Given the description of an element on the screen output the (x, y) to click on. 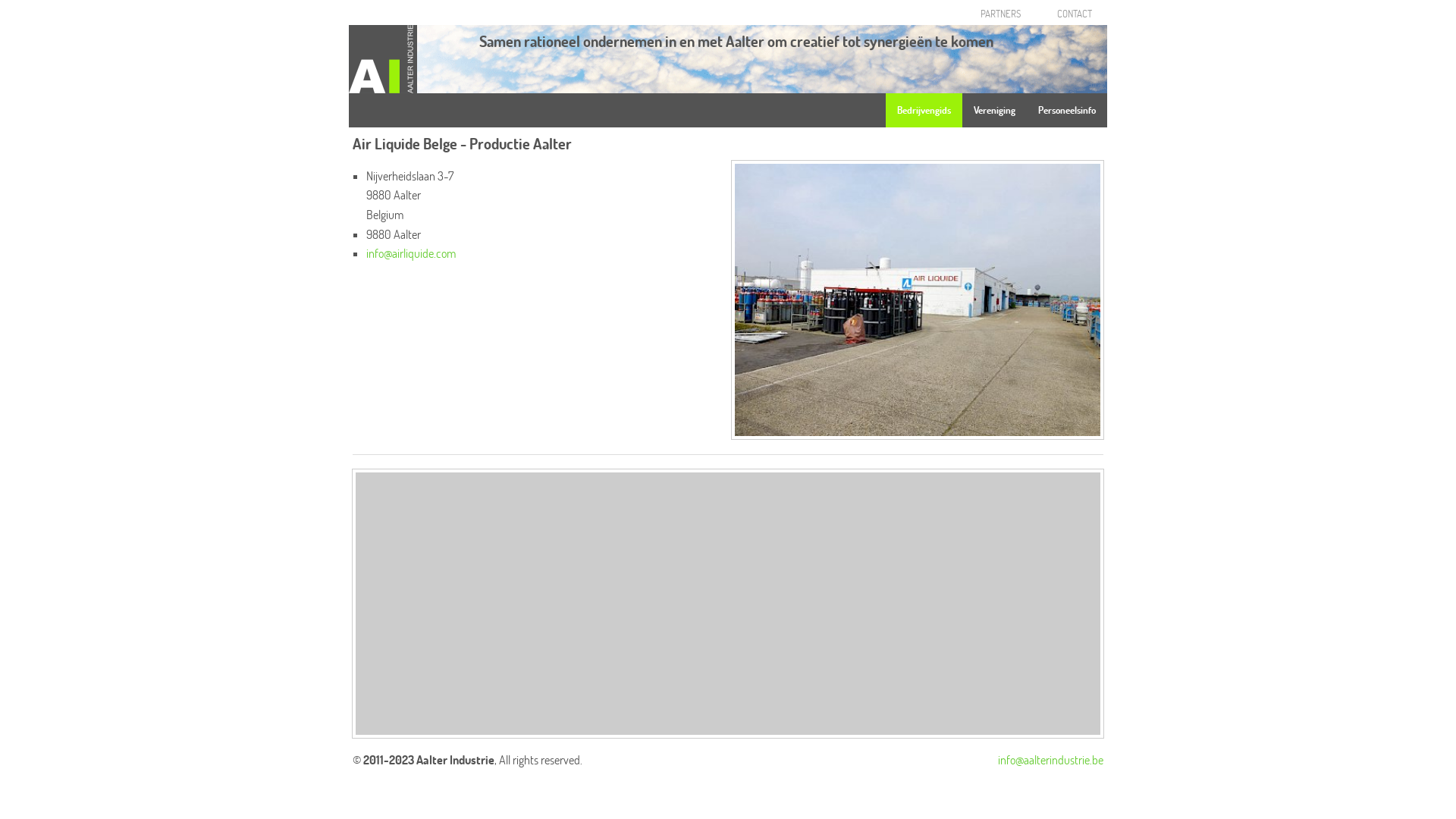
Aalter Industrie Element type: hover (382, 56)
Vereniging Element type: text (994, 110)
info@aalterindustrie.be Element type: text (1050, 759)
PARTNERS Element type: text (1000, 13)
Bedrijvengids Element type: text (923, 110)
info@airliquide.com Element type: text (410, 252)
Personeelsinfo Element type: text (1066, 110)
Grotere figuur Air Liquide Belge - Productie Aalter Element type: hover (917, 297)
CONTACT Element type: text (1074, 13)
